Given the description of an element on the screen output the (x, y) to click on. 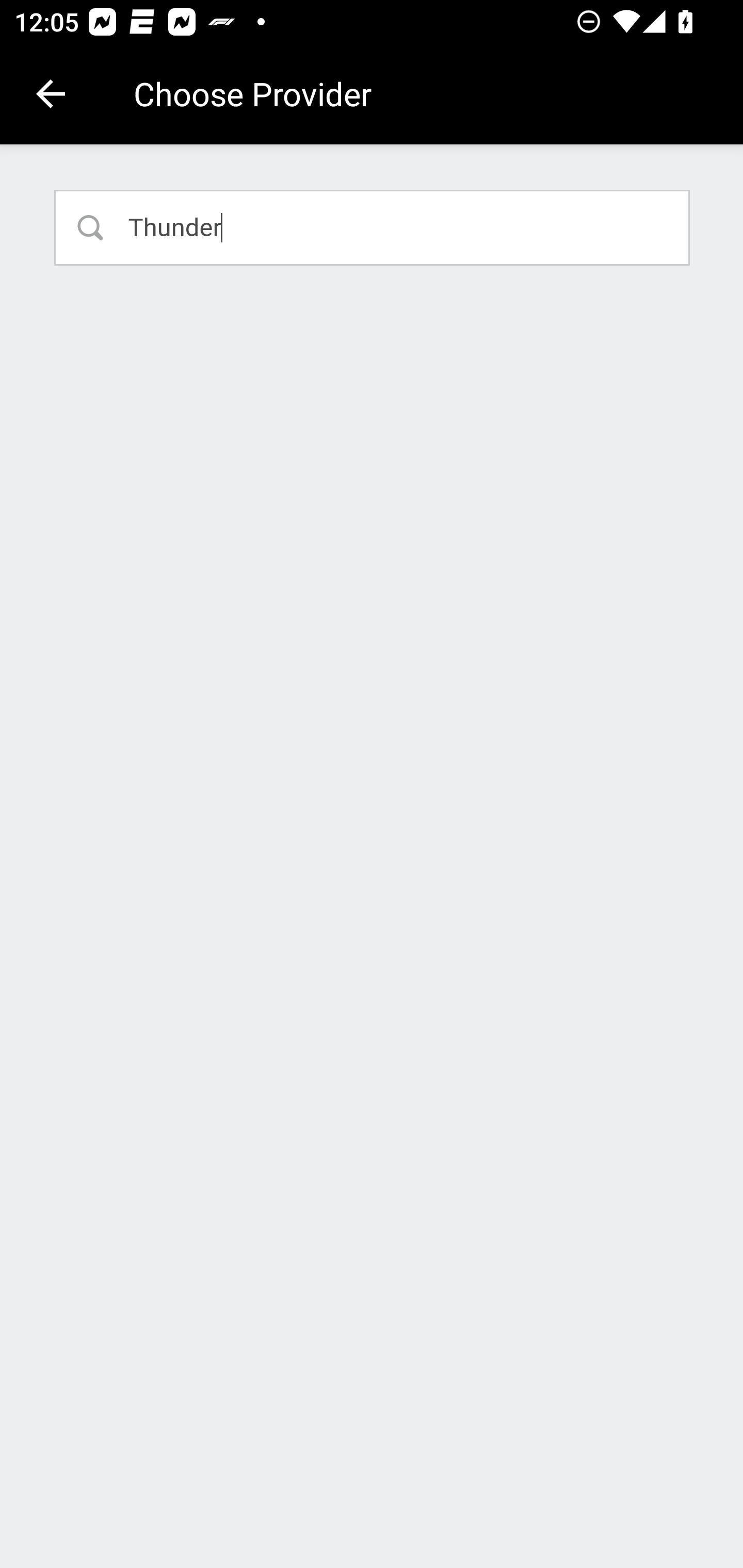
Navigate up (50, 93)
Thunder (372, 227)
